Given the description of an element on the screen output the (x, y) to click on. 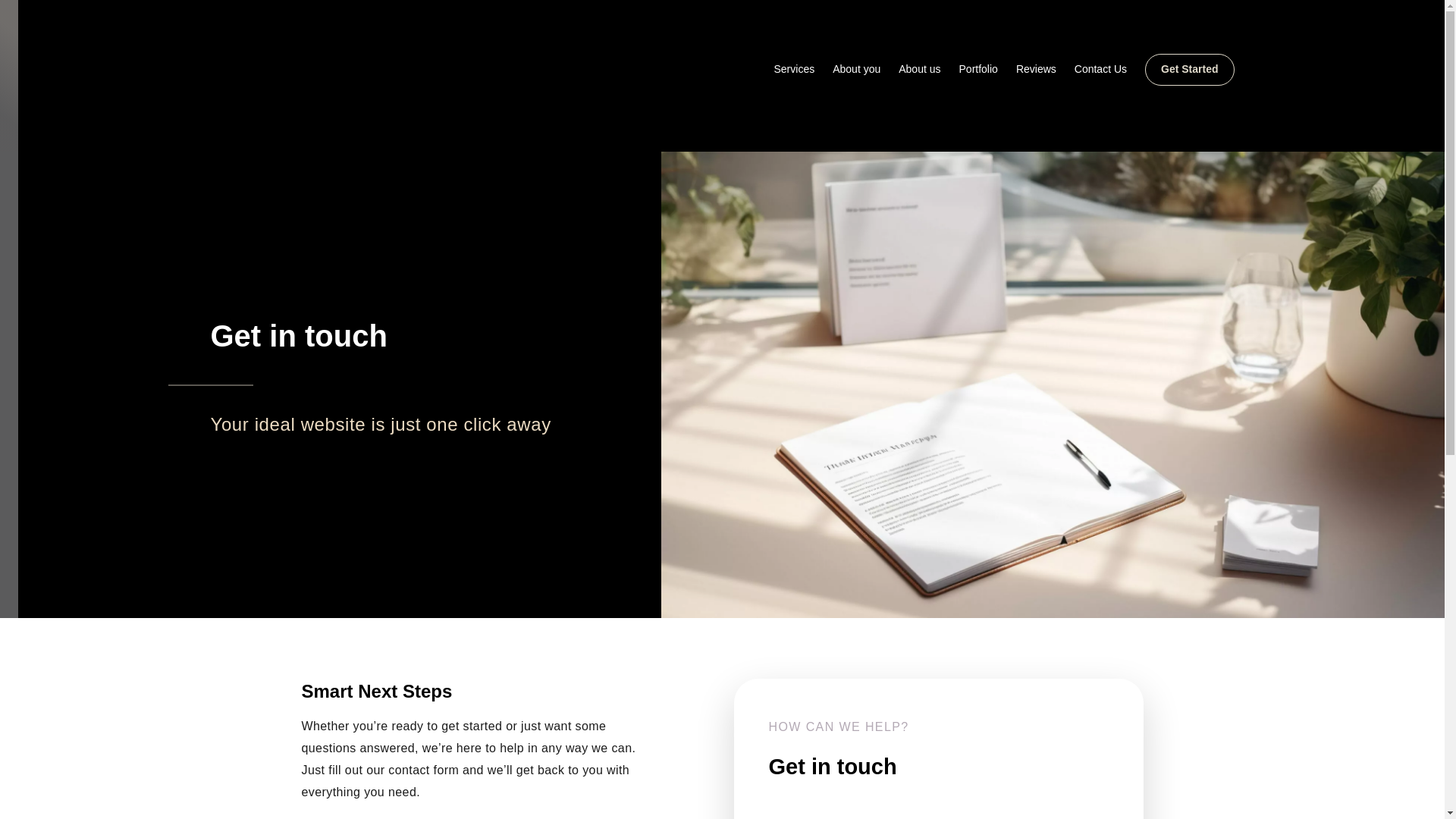
Reviews (1036, 69)
Get Started (1188, 69)
About us (919, 69)
Portfolio (978, 69)
About you (856, 69)
Contact Us (1100, 69)
Services (793, 69)
